Given the description of an element on the screen output the (x, y) to click on. 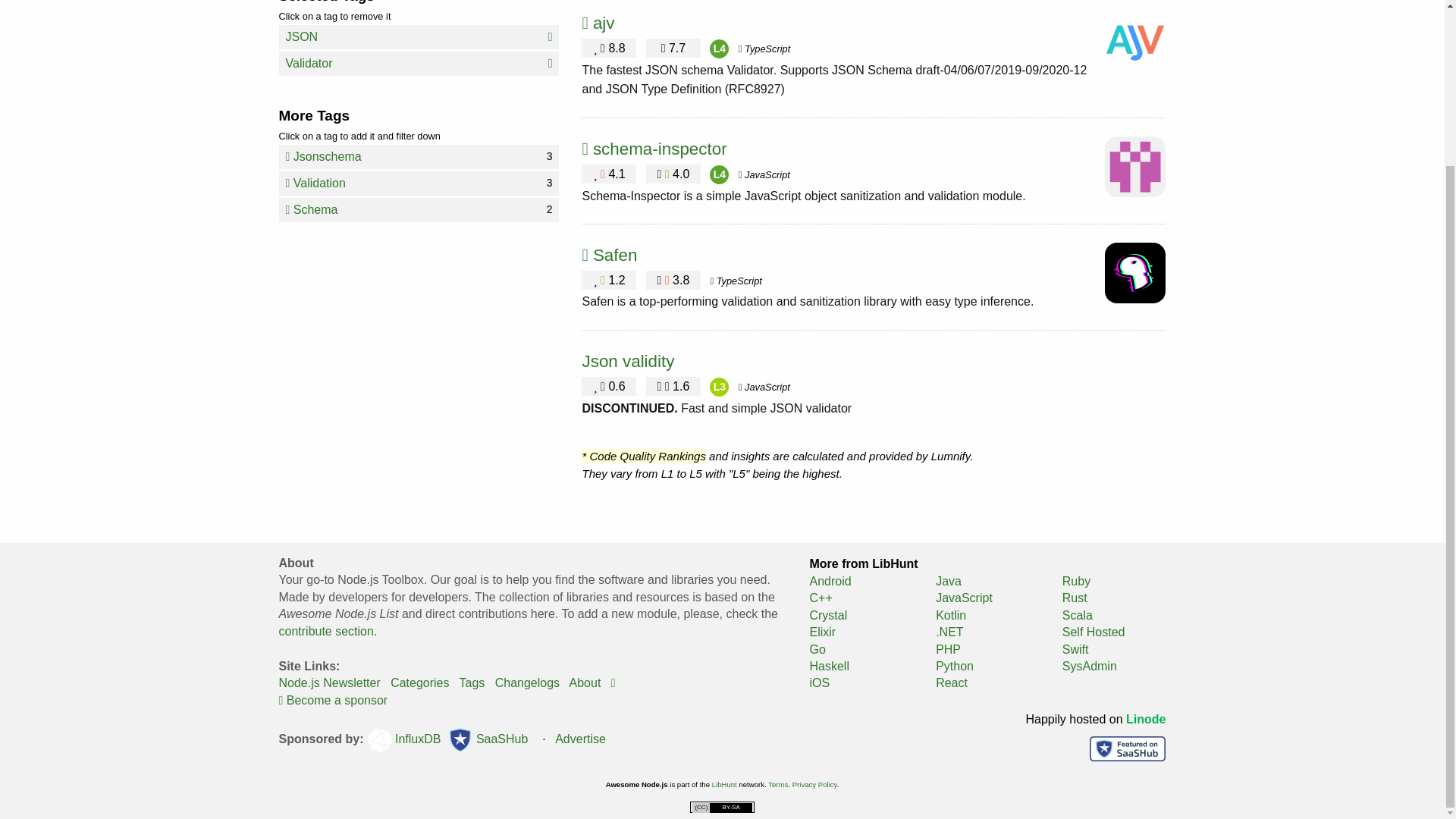
Primary programming language (764, 48)
Json validity (627, 361)
Node.js Newsletter (418, 183)
Code Quality Rank provided by Lumnify (329, 682)
Activity. Unknown. (418, 209)
Tags (719, 386)
Validator (673, 386)
Code Quality Rank provided by Lumnify (472, 682)
contribute section (418, 63)
Primary programming language (719, 174)
About (326, 631)
schema-inspector (735, 280)
